Given the description of an element on the screen output the (x, y) to click on. 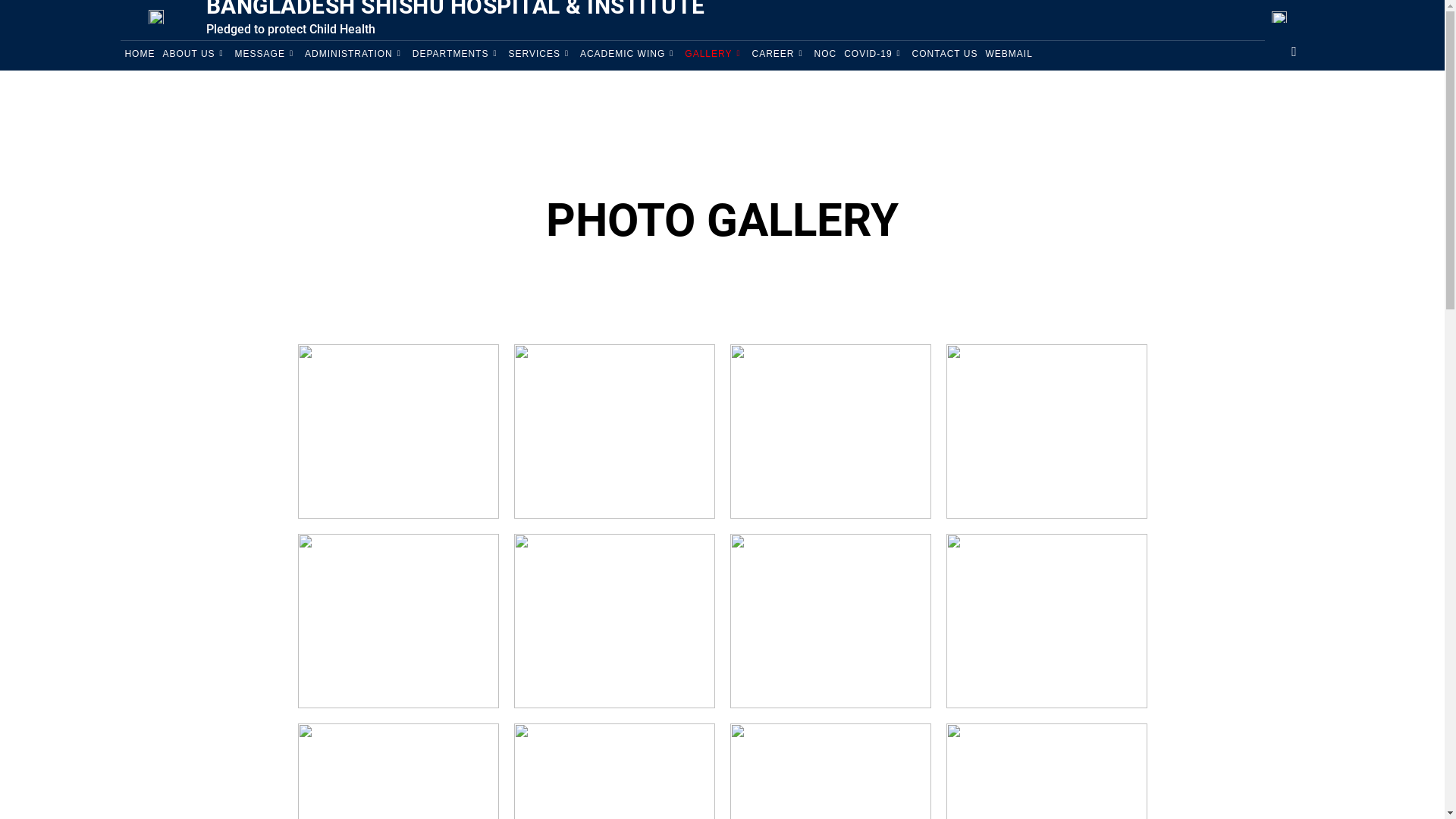
MESSAGE Element type: text (266, 53)
ABOUT US Element type: text (194, 53)
ADMINISTRATION Element type: text (354, 53)
NOC Element type: text (825, 53)
DEPARTMENTS Element type: text (456, 53)
WEBMAIL Element type: text (1008, 53)
GALLERY Element type: text (713, 53)
HOME Element type: text (139, 53)
CAREER Element type: text (778, 53)
CONTACT US Element type: text (945, 53)
SERVICES Element type: text (540, 53)
ACADEMIC WING Element type: text (628, 53)
COVID-19 Element type: text (873, 53)
